Given the description of an element on the screen output the (x, y) to click on. 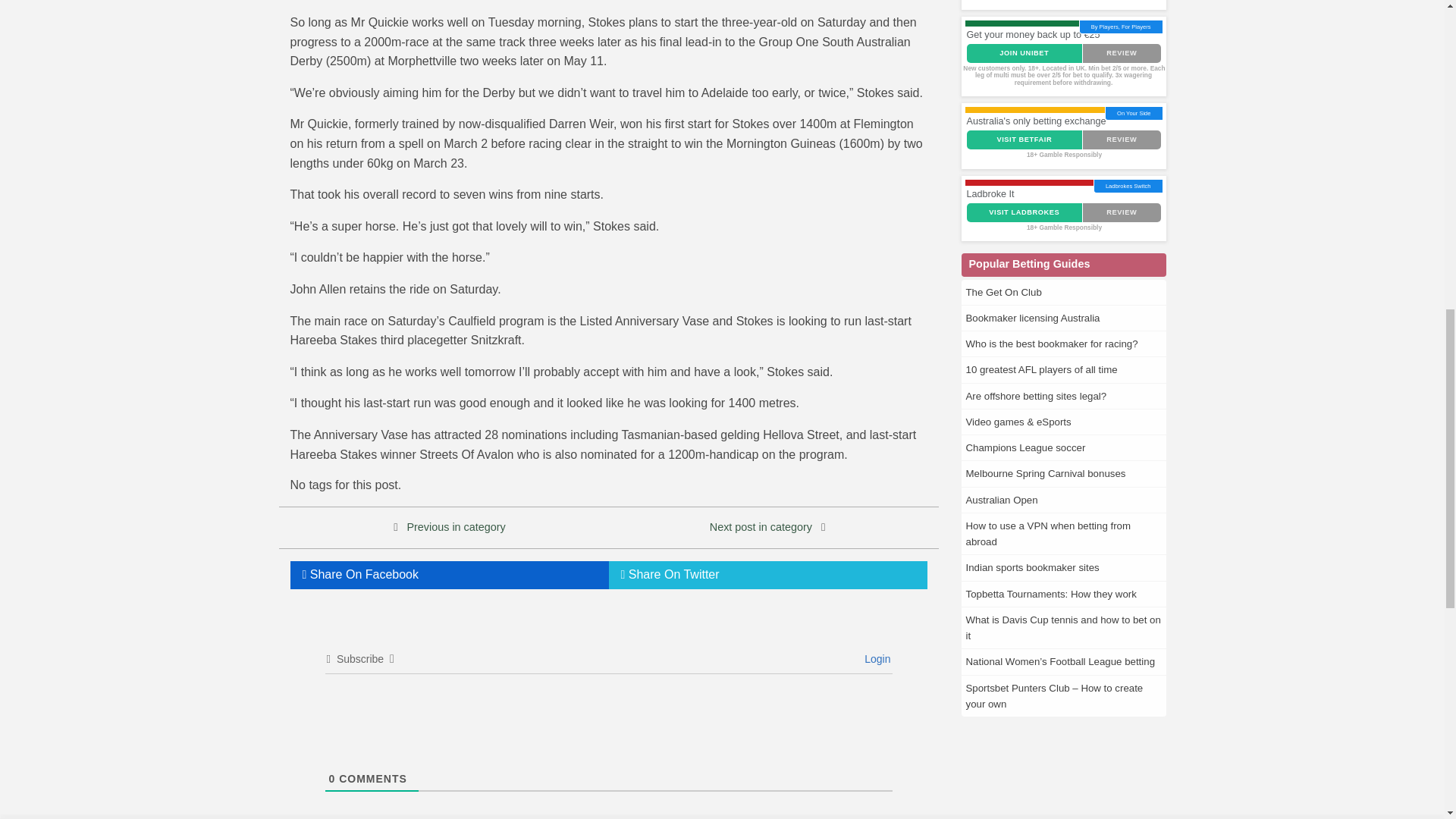
Next post in category (761, 526)
Share On Facebook (448, 574)
Share On Twitter (767, 574)
Previous in category (455, 526)
Login (874, 657)
